Given the description of an element on the screen output the (x, y) to click on. 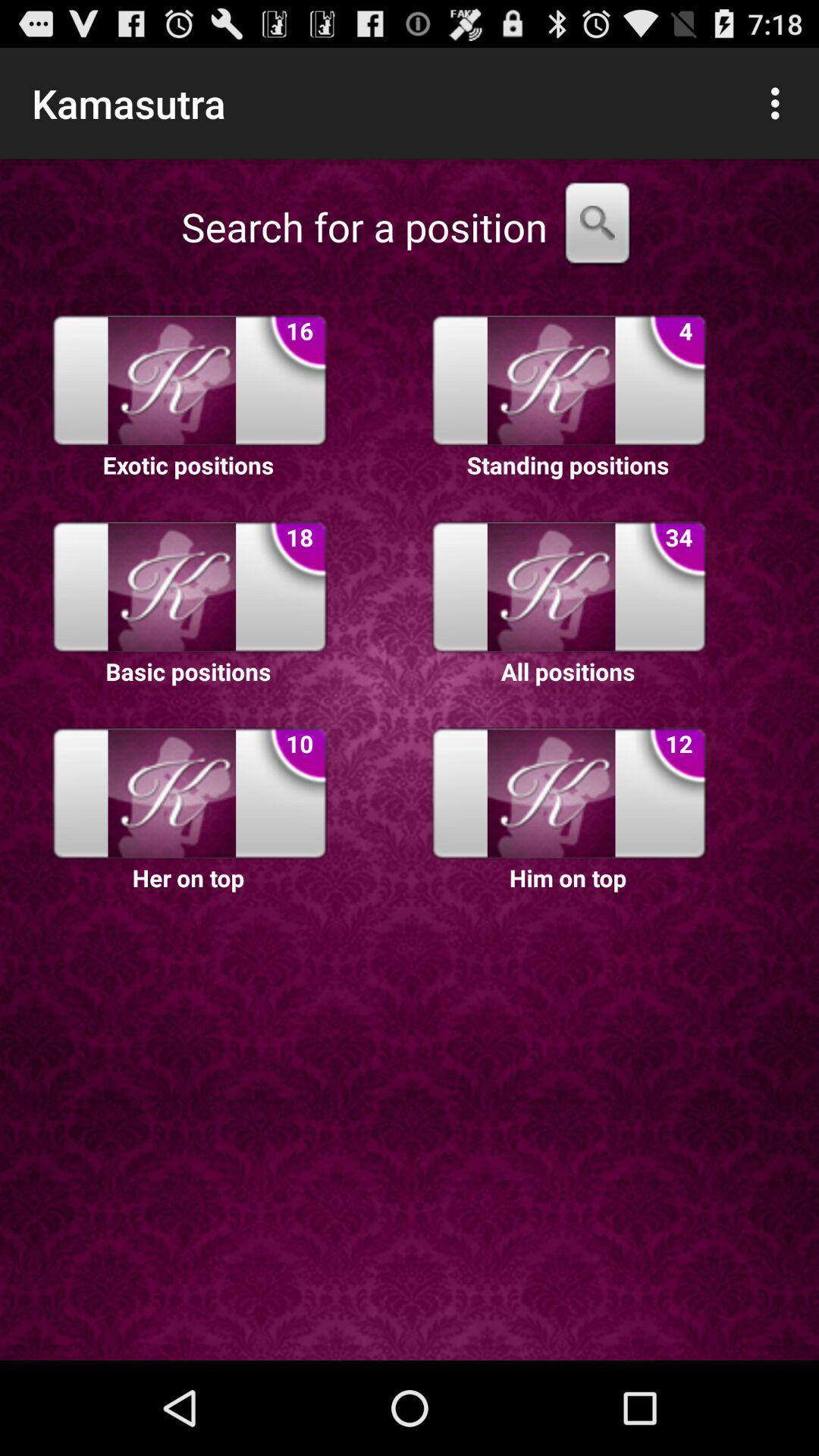
open icon to the right of the search for a item (597, 226)
